Given the description of an element on the screen output the (x, y) to click on. 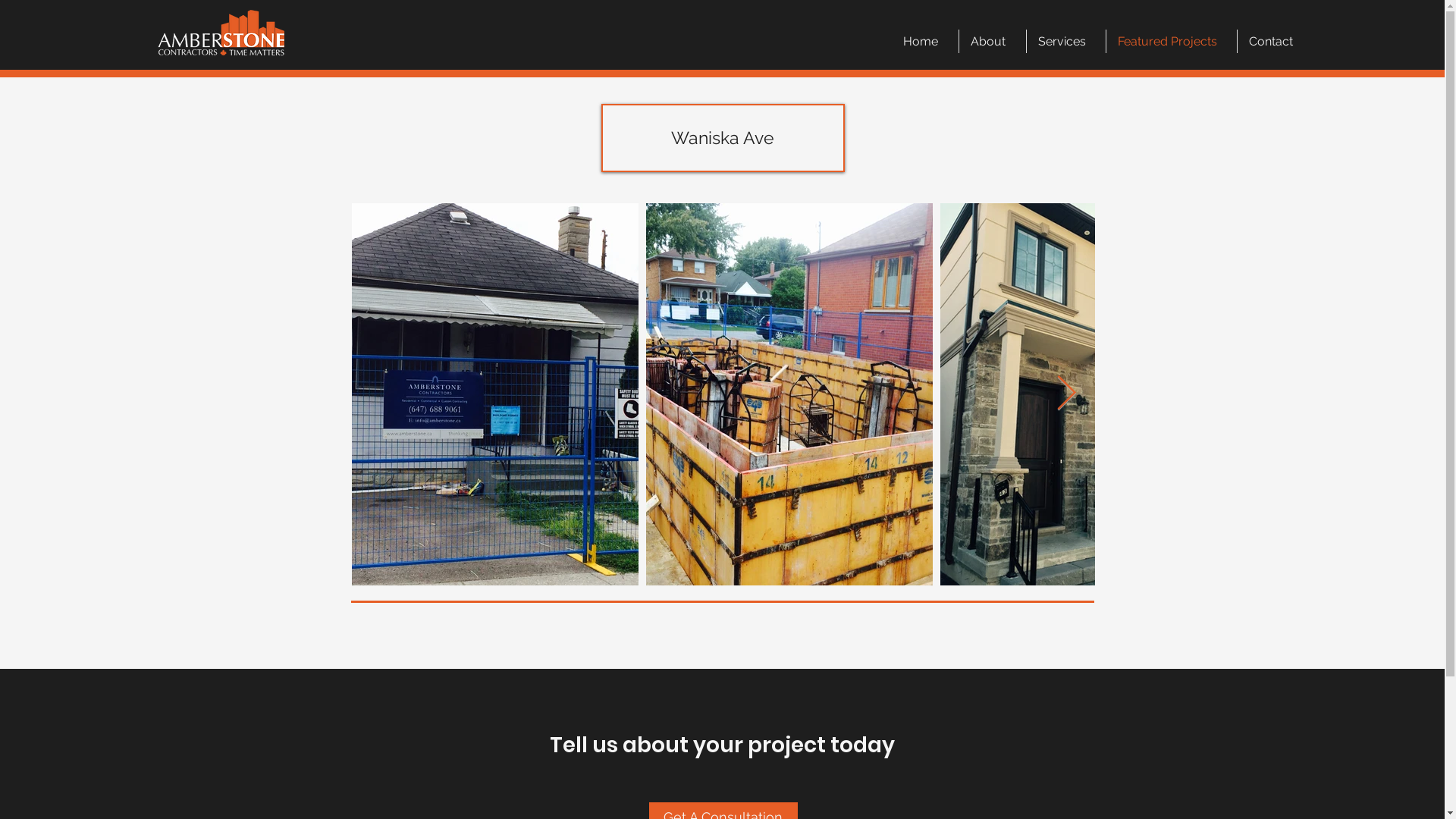
Services Element type: text (1065, 41)
Home Element type: text (924, 41)
Contact Element type: text (1274, 41)
Featured Projects Element type: text (1171, 41)
About Element type: text (992, 41)
